Given the description of an element on the screen output the (x, y) to click on. 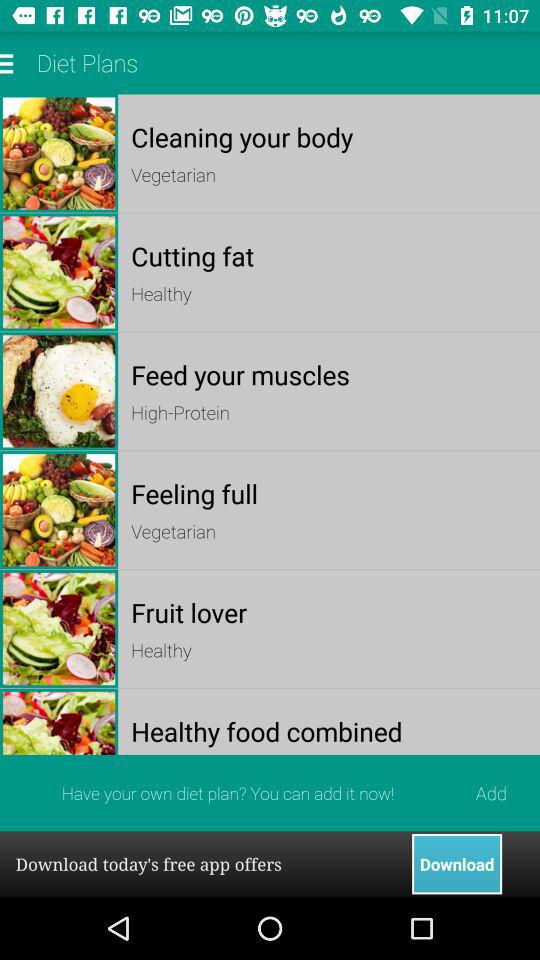
turn off fruit lover app (328, 612)
